Given the description of an element on the screen output the (x, y) to click on. 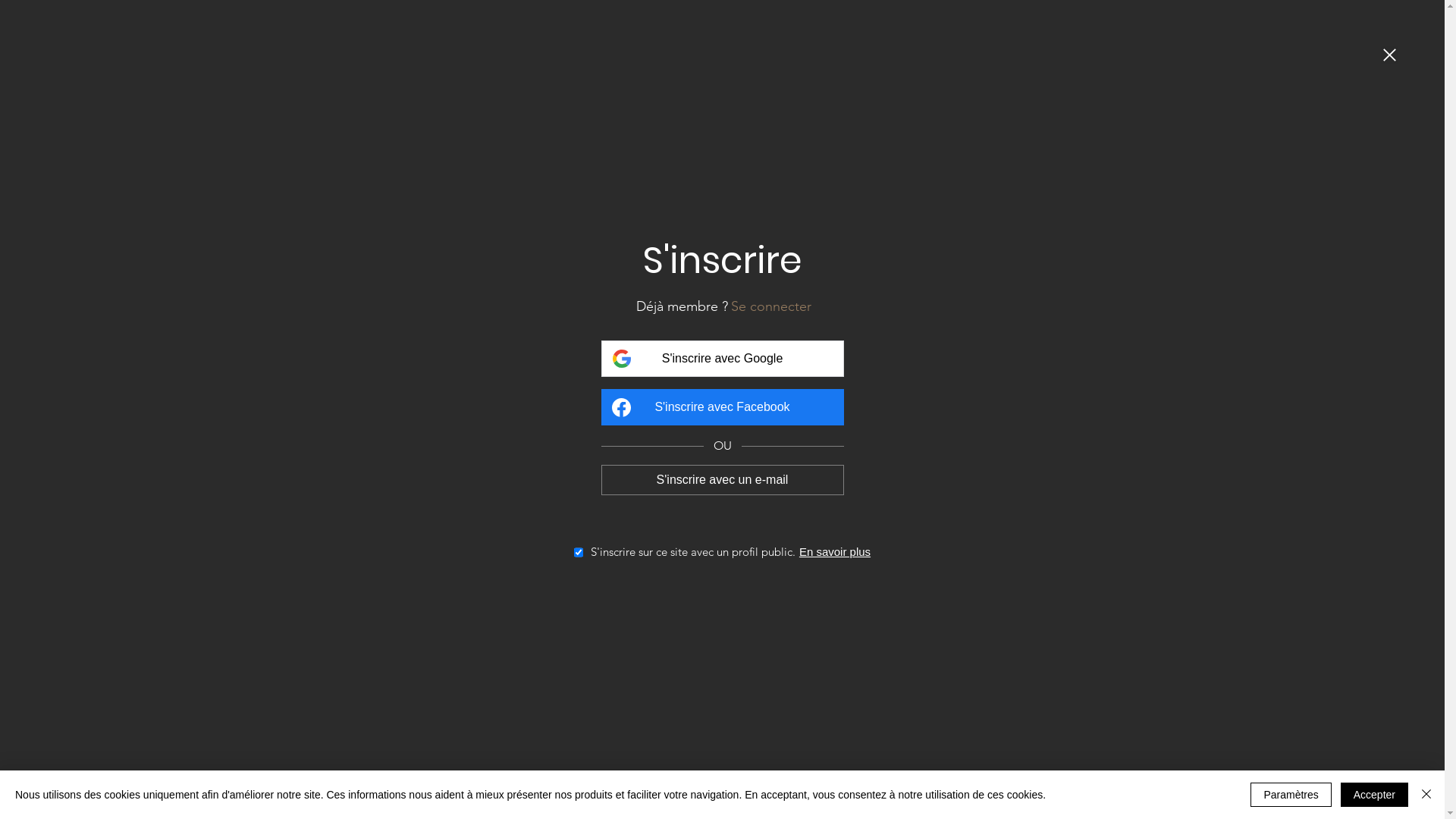
S'inscrire avec Google Element type: text (721, 358)
S'inscrire avec un e-mail Element type: text (721, 479)
S'inscrire avec Facebook Element type: text (721, 407)
En savoir plus Element type: text (834, 551)
Se connecter Element type: text (771, 306)
Accepter Element type: text (1374, 794)
